Given the description of an element on the screen output the (x, y) to click on. 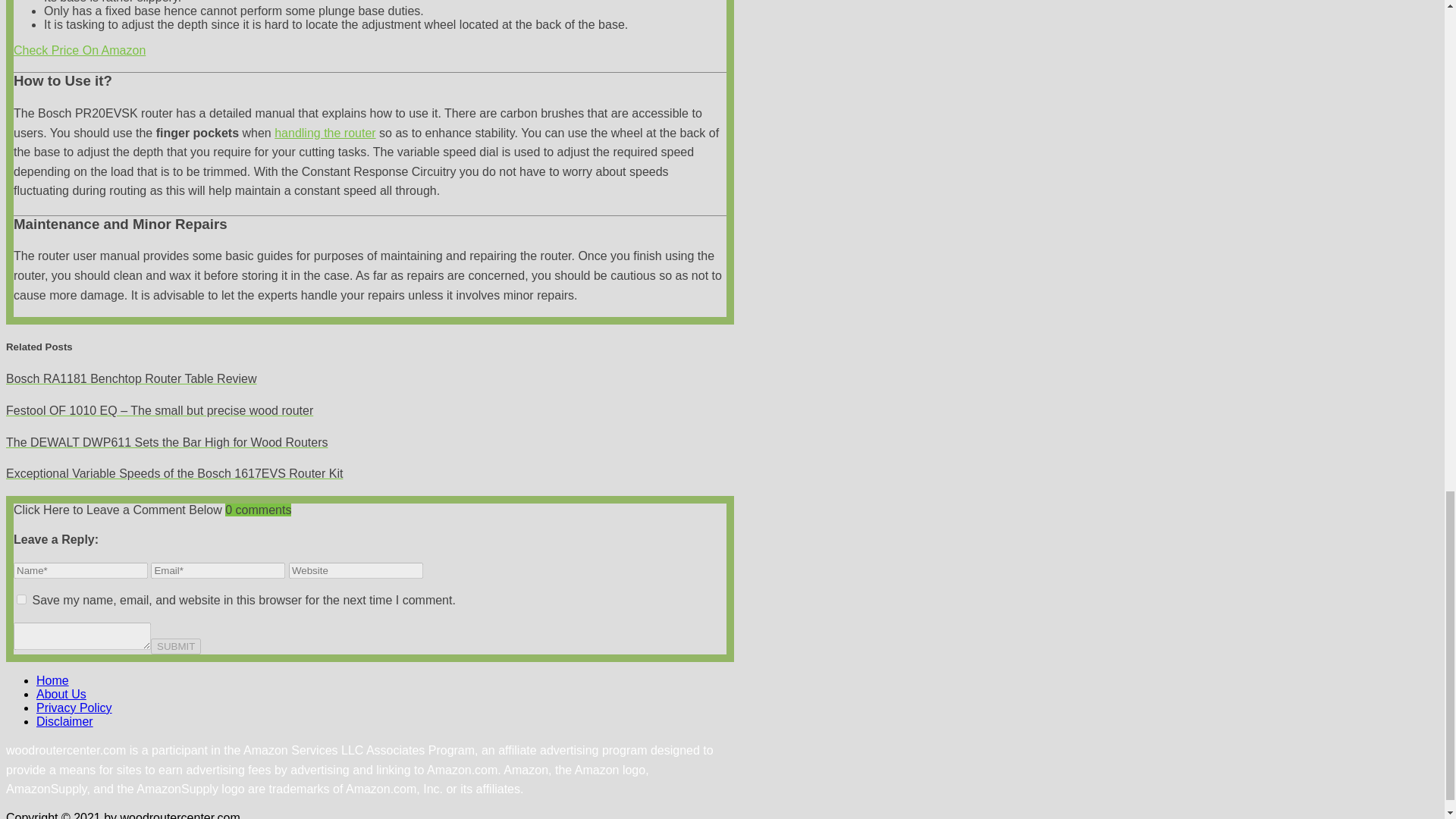
SUBMIT (175, 646)
Home (52, 680)
Privacy Policy (74, 707)
Disclaimer (64, 721)
The DEWALT DWP611 Sets the Bar High for Wood Routers (369, 442)
yes (21, 599)
Exceptional Variable Speeds of the Bosch 1617EVS Router Kit (369, 474)
About Us (60, 694)
Check Price On Amazon (79, 50)
handling the router (325, 132)
SUBMIT (175, 646)
Bosch RA1181 Benchtop Router Table Review (369, 379)
